Given the description of an element on the screen output the (x, y) to click on. 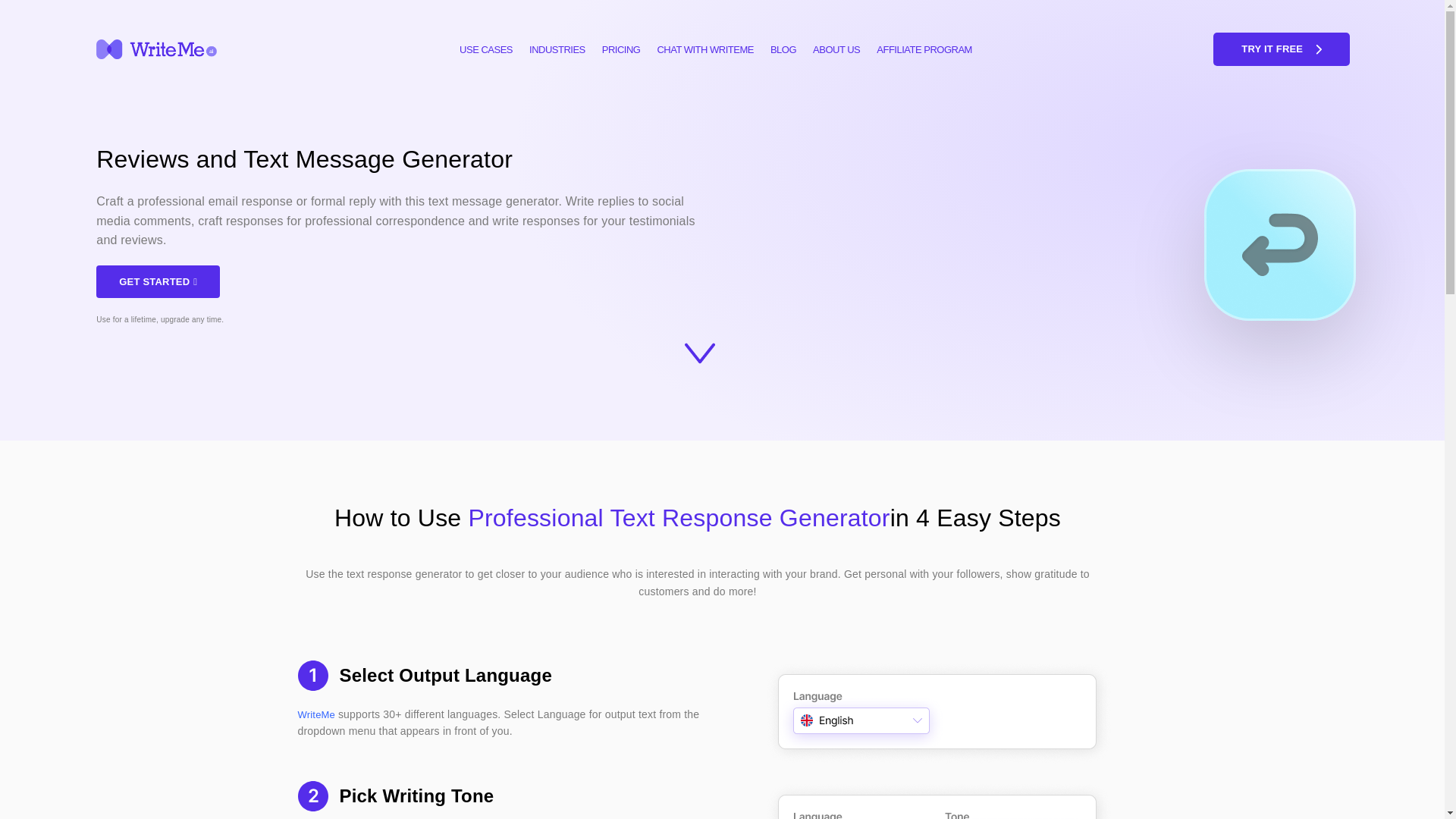
WriteMe (317, 714)
AFFILIATE PROGRAM (923, 48)
TRY IT FREE (1280, 49)
GET STARTED (157, 281)
CHAT WITH WRITEME (704, 48)
USE CASES (486, 48)
INDUSTRIES (557, 48)
